Given the description of an element on the screen output the (x, y) to click on. 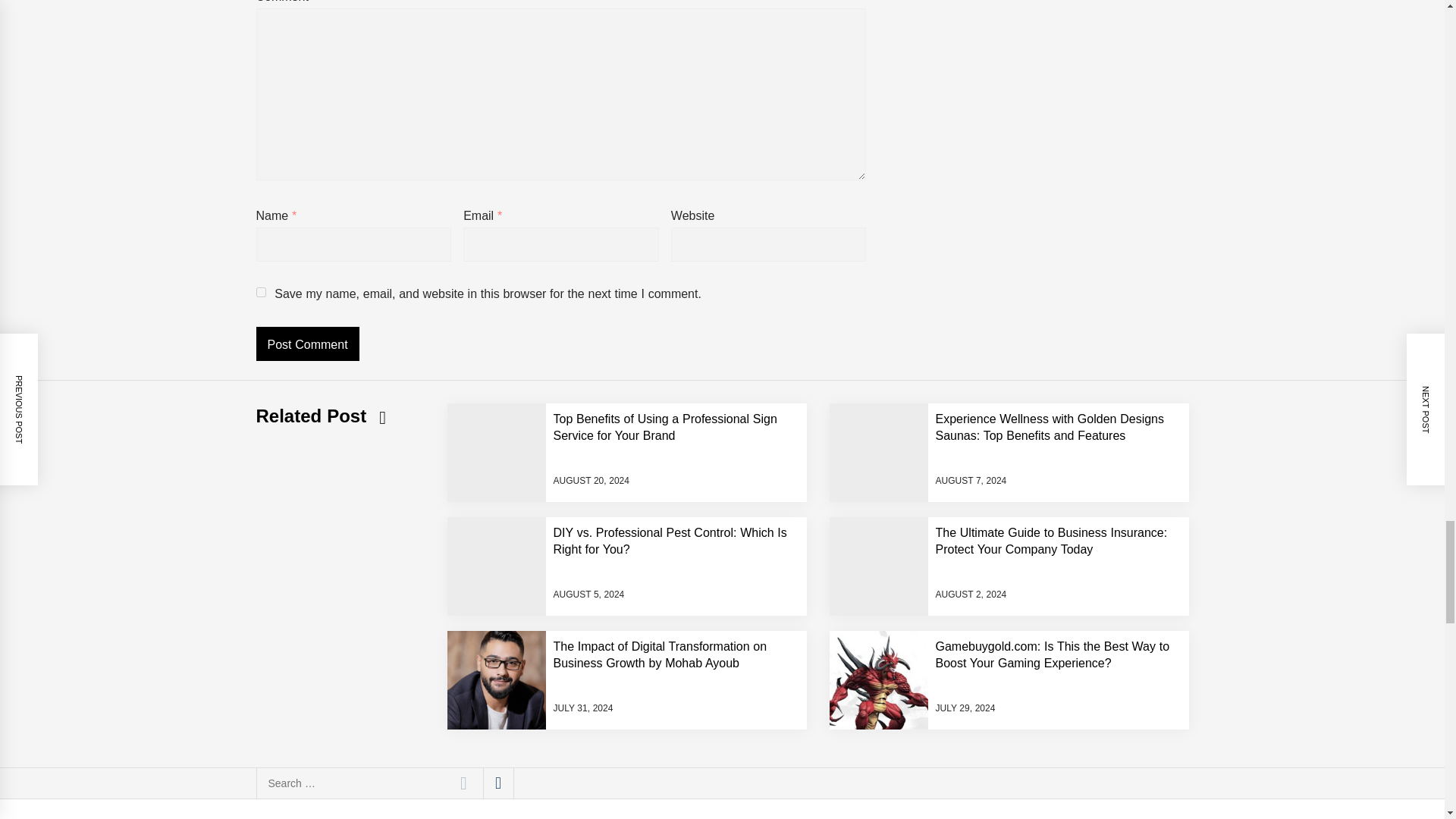
Search (462, 783)
Search (462, 783)
Post Comment (307, 343)
yes (261, 292)
Post Comment (307, 343)
